Given the description of an element on the screen output the (x, y) to click on. 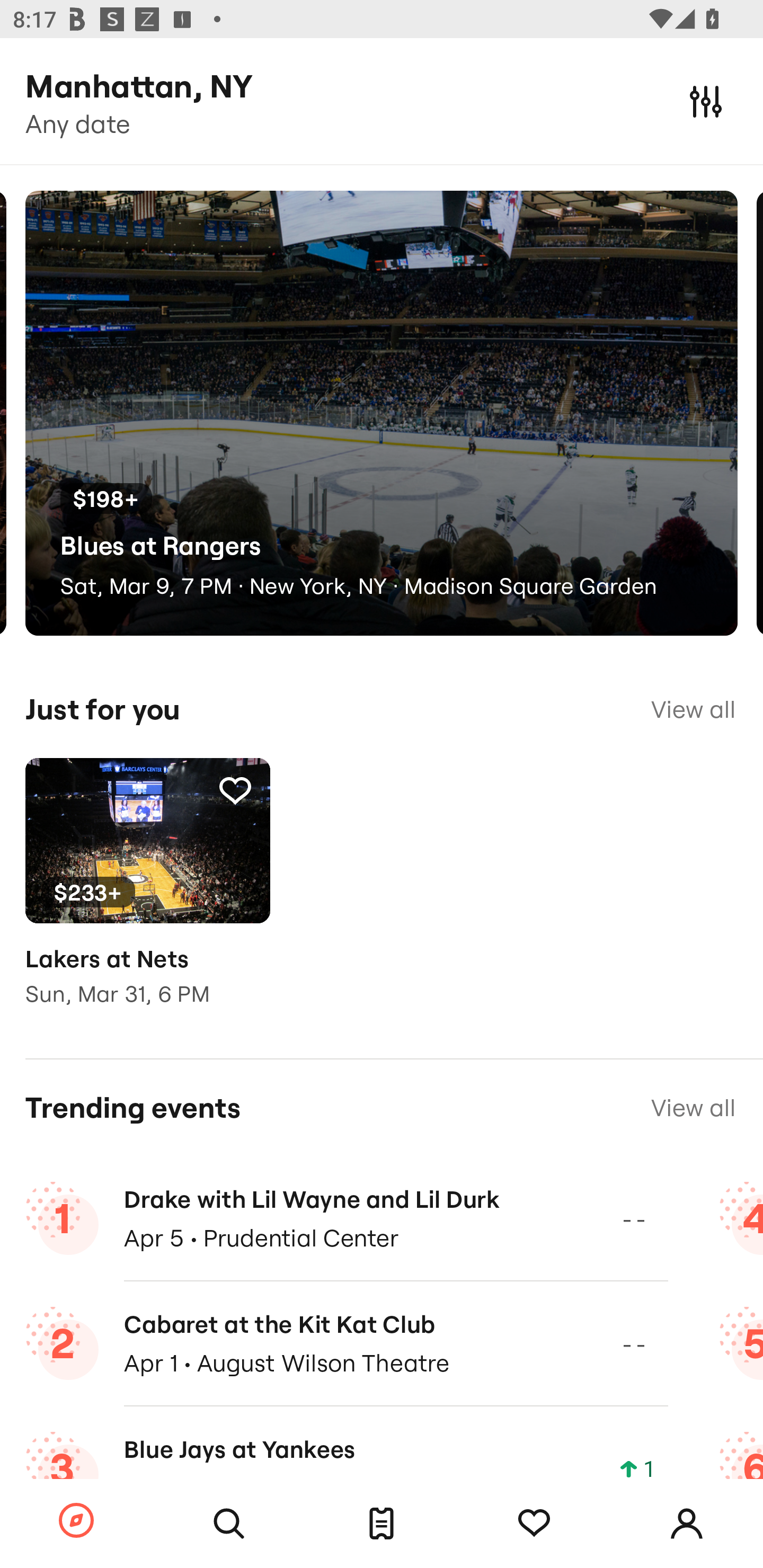
Filters (705, 100)
View all (693, 709)
Tracking $233+ Lakers at Nets Sun, Mar 31, 6 PM (147, 895)
Tracking (234, 790)
View all (693, 1108)
Browse (76, 1521)
Search (228, 1523)
Tickets (381, 1523)
Tracking (533, 1523)
Account (686, 1523)
